Given the description of an element on the screen output the (x, y) to click on. 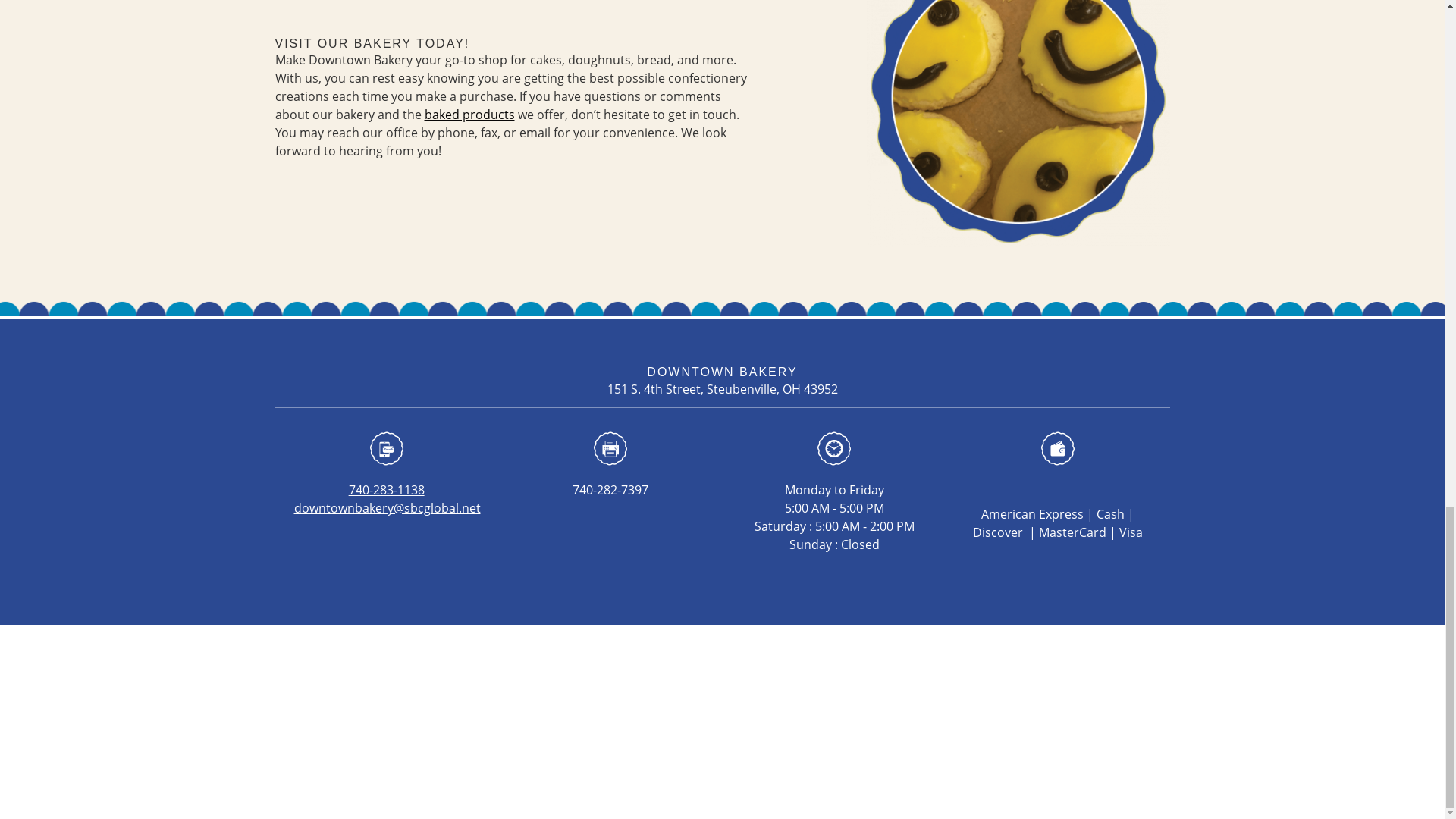
740-283-1138 (387, 489)
baked products (470, 114)
Smiley Face Cookies (1017, 123)
